Given the description of an element on the screen output the (x, y) to click on. 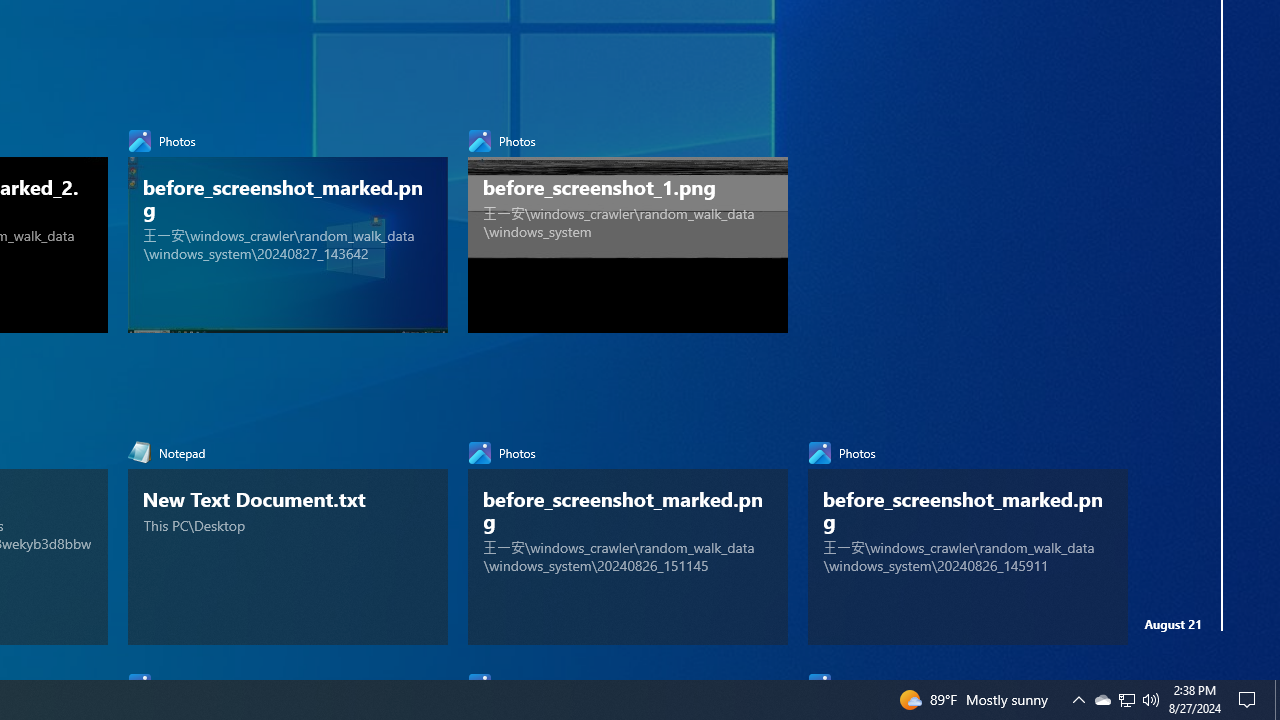
Photos, before_screenshot_marked.png (967, 538)
Notepad, New Text Document.txt (288, 538)
Photos, before_screenshot_1.png (628, 226)
